Given the description of an element on the screen output the (x, y) to click on. 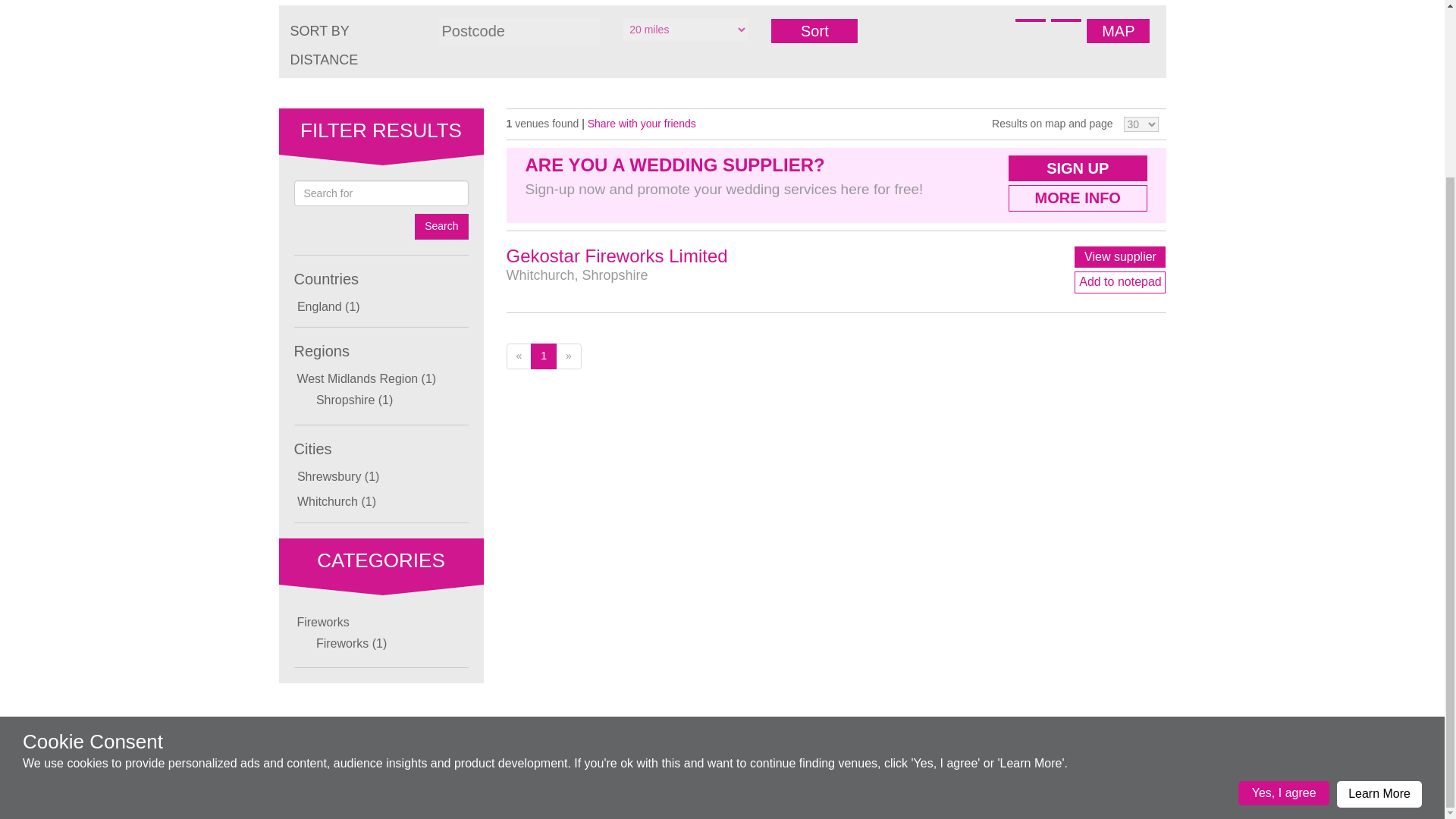
Yes, I agree (1284, 576)
Learn More (1379, 578)
